Given the description of an element on the screen output the (x, y) to click on. 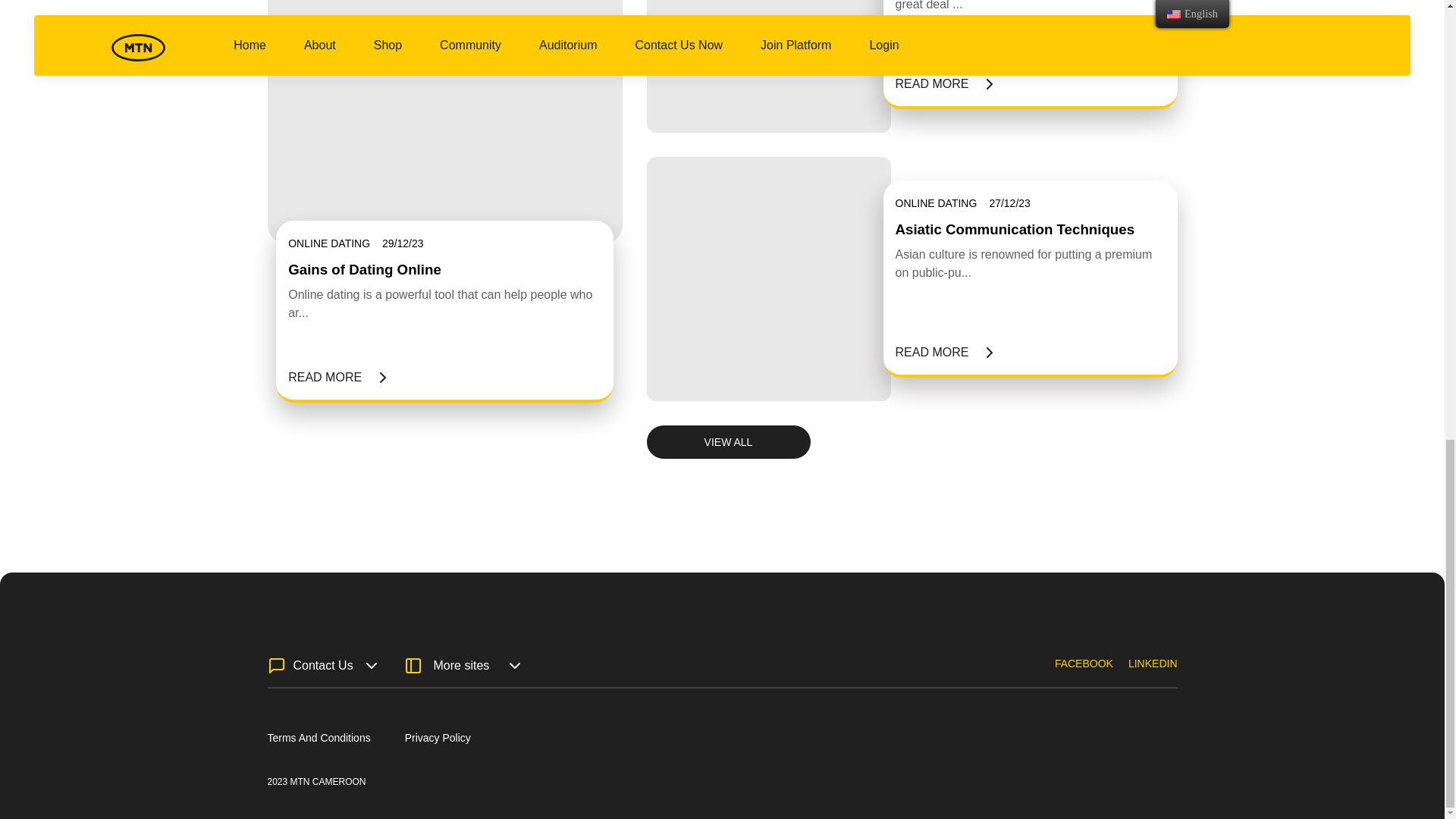
VIEW ALL (727, 441)
Contact Us (320, 665)
Terms And Conditions (317, 737)
READ MORE (336, 377)
READ MORE (943, 83)
Privacy Policy (437, 737)
READ MORE (943, 352)
FACEBOOK (1083, 672)
LINKEDIN (1152, 672)
More sites (460, 665)
